Given the description of an element on the screen output the (x, y) to click on. 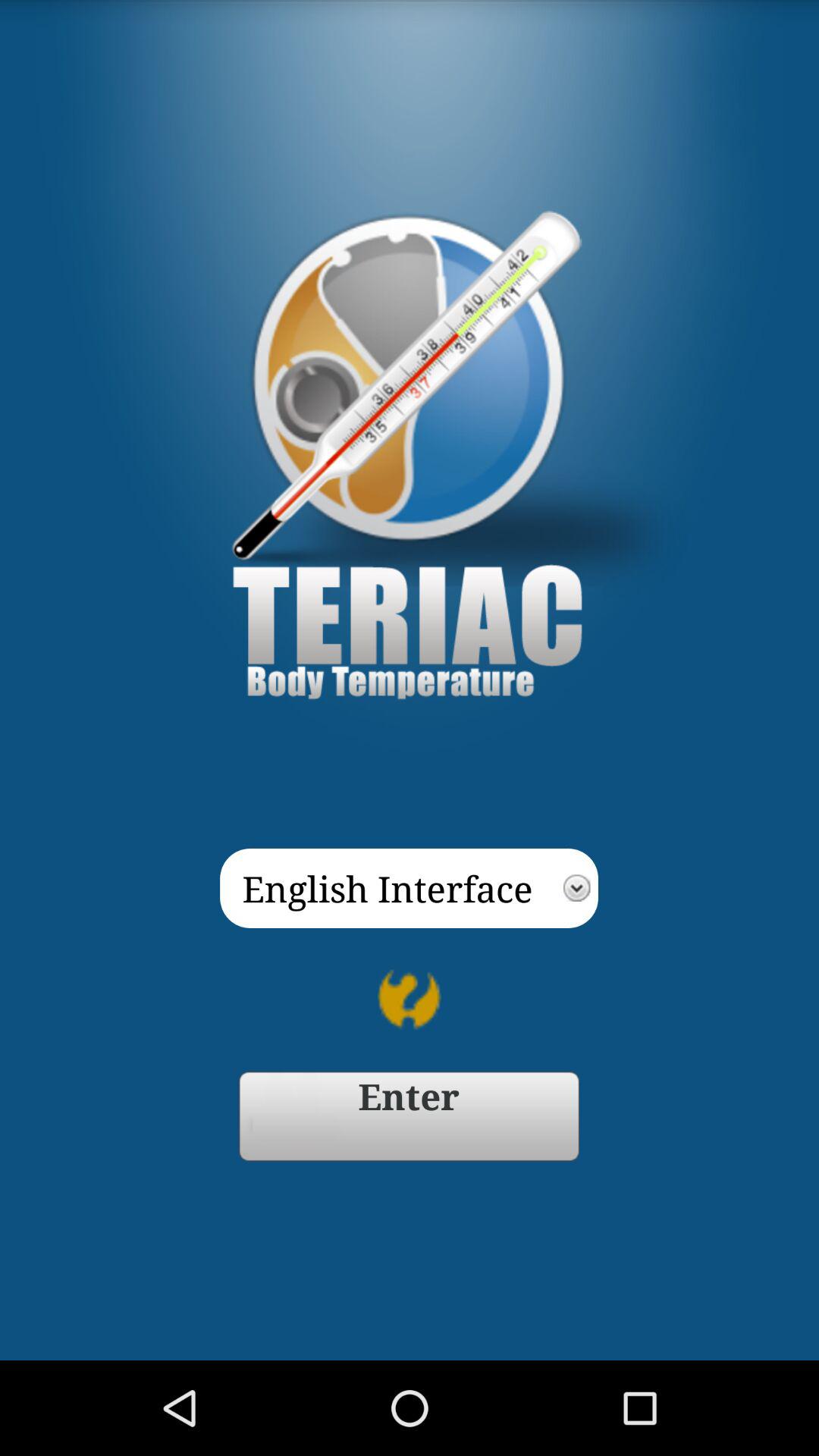
help tips (409, 999)
